Given the description of an element on the screen output the (x, y) to click on. 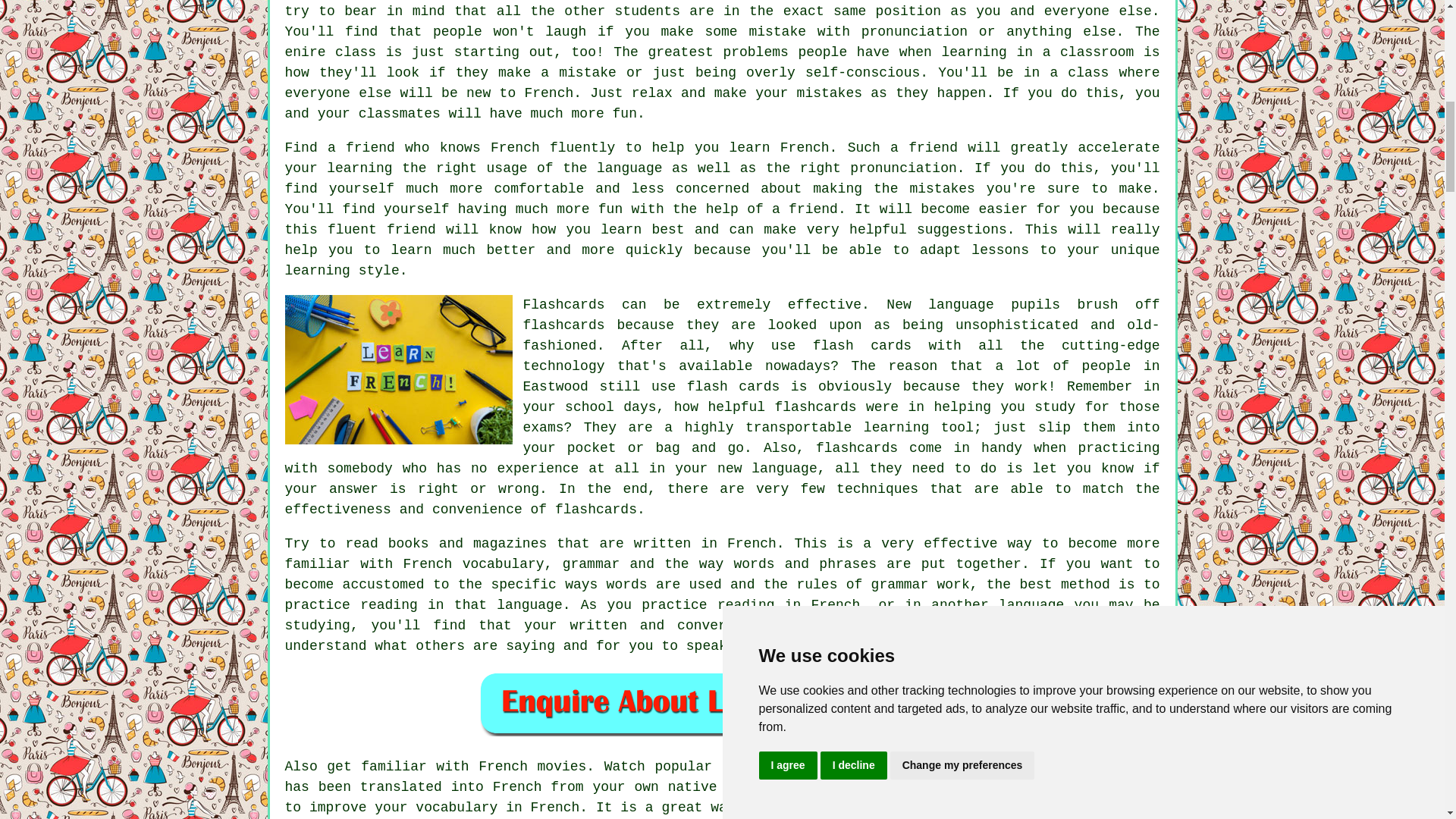
French Lessons Quotes in Eastwood Nottinghamshire (722, 703)
